Given the description of an element on the screen output the (x, y) to click on. 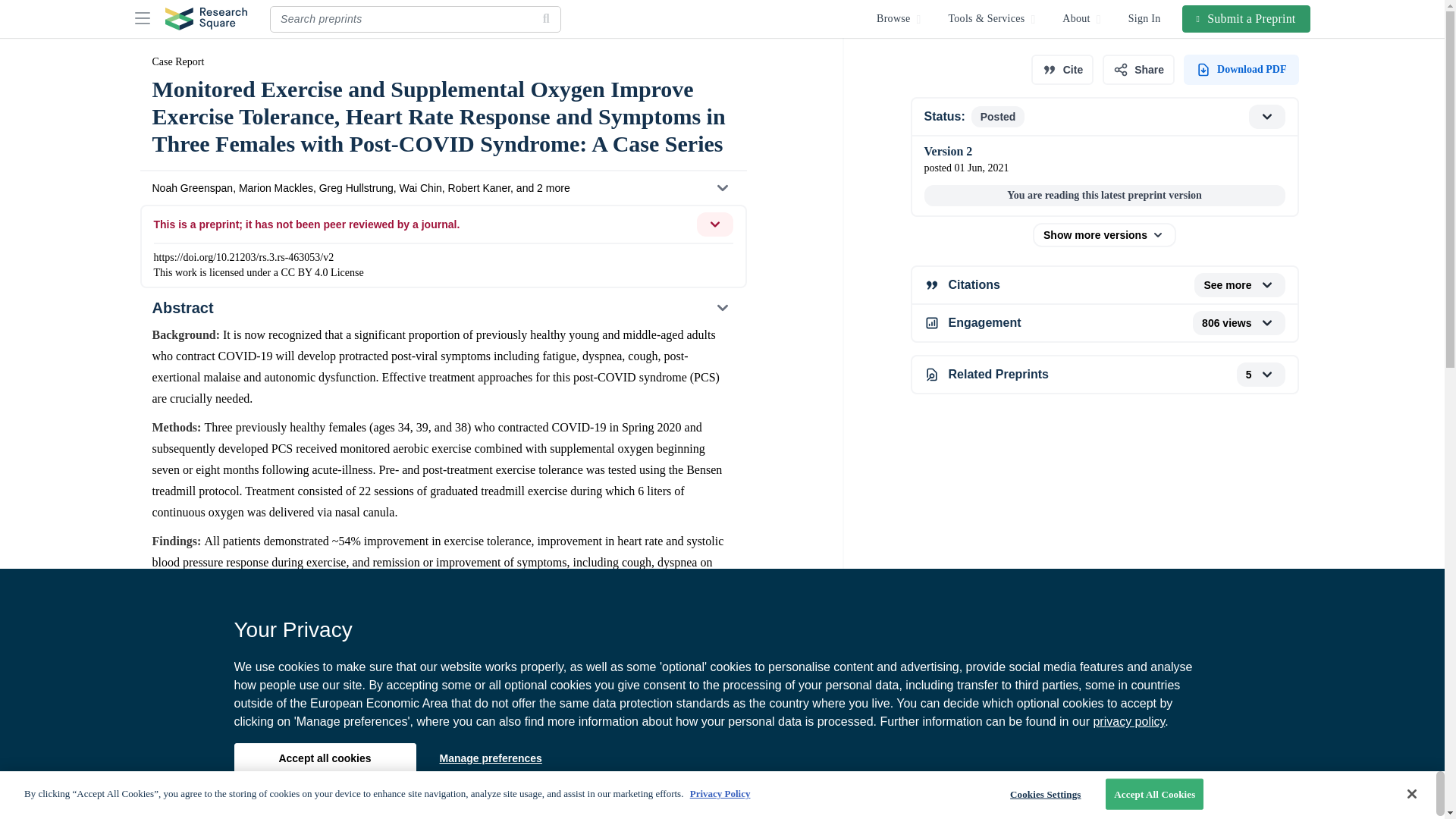
Sign In (1144, 18)
Manage preferences (490, 757)
Infectious Diseases (202, 757)
Submit a Preprint (1246, 18)
Accept all cookies (323, 757)
Abstract (442, 307)
Neurology (444, 757)
privacy policy (1128, 721)
